Given the description of an element on the screen output the (x, y) to click on. 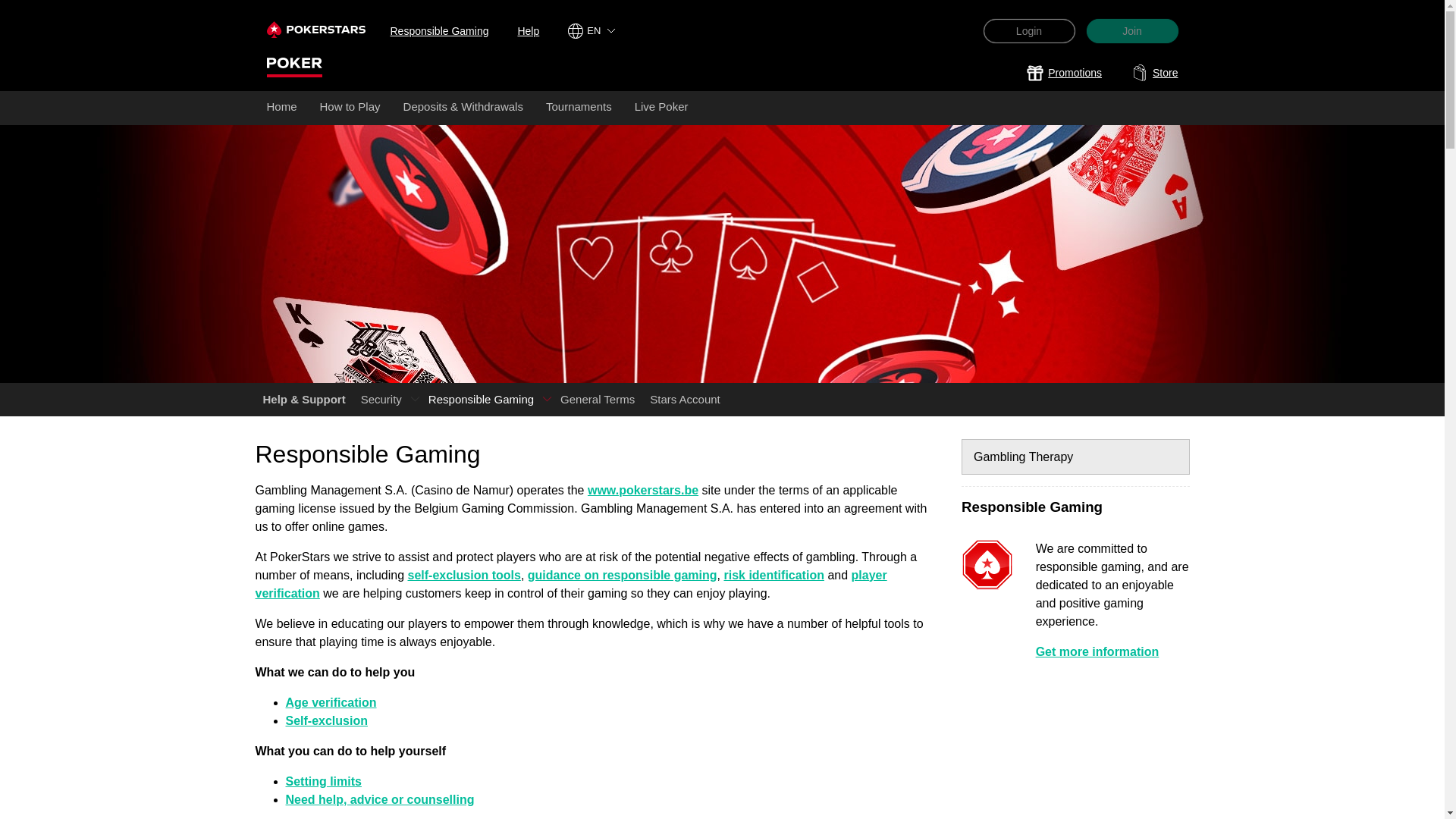
Responsible Gaming (438, 30)
Age verification (330, 702)
Promotions (1064, 72)
Responsible Gaming (480, 399)
risk identification (773, 574)
General Terms (597, 399)
Poker (293, 63)
Help (527, 30)
Need help, advice or counselling (379, 799)
player verification (570, 583)
www.pokerstars.be (643, 490)
Setting limits (323, 780)
Home (280, 107)
guidance on responsible gaming (622, 574)
Login (1028, 30)
